Given the description of an element on the screen output the (x, y) to click on. 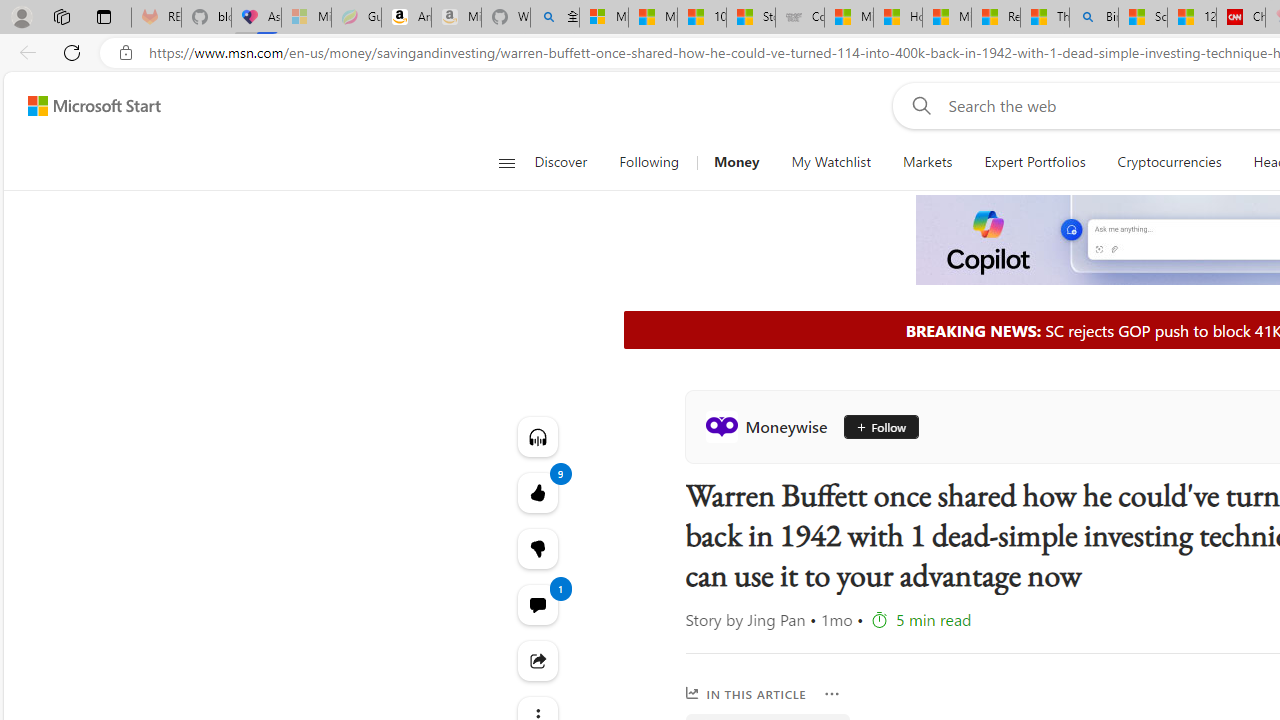
Markets (926, 162)
Cryptocurrencies (1169, 162)
How I Got Rid of Microsoft Edge's Unnecessary Features (897, 17)
Dislike (537, 548)
View comments 1 Comment (537, 604)
Follow (873, 426)
Skip to footer (82, 105)
My Watchlist (830, 162)
Following (648, 162)
Microsoft account | Privacy (603, 17)
My Watchlist (830, 162)
